Given the description of an element on the screen output the (x, y) to click on. 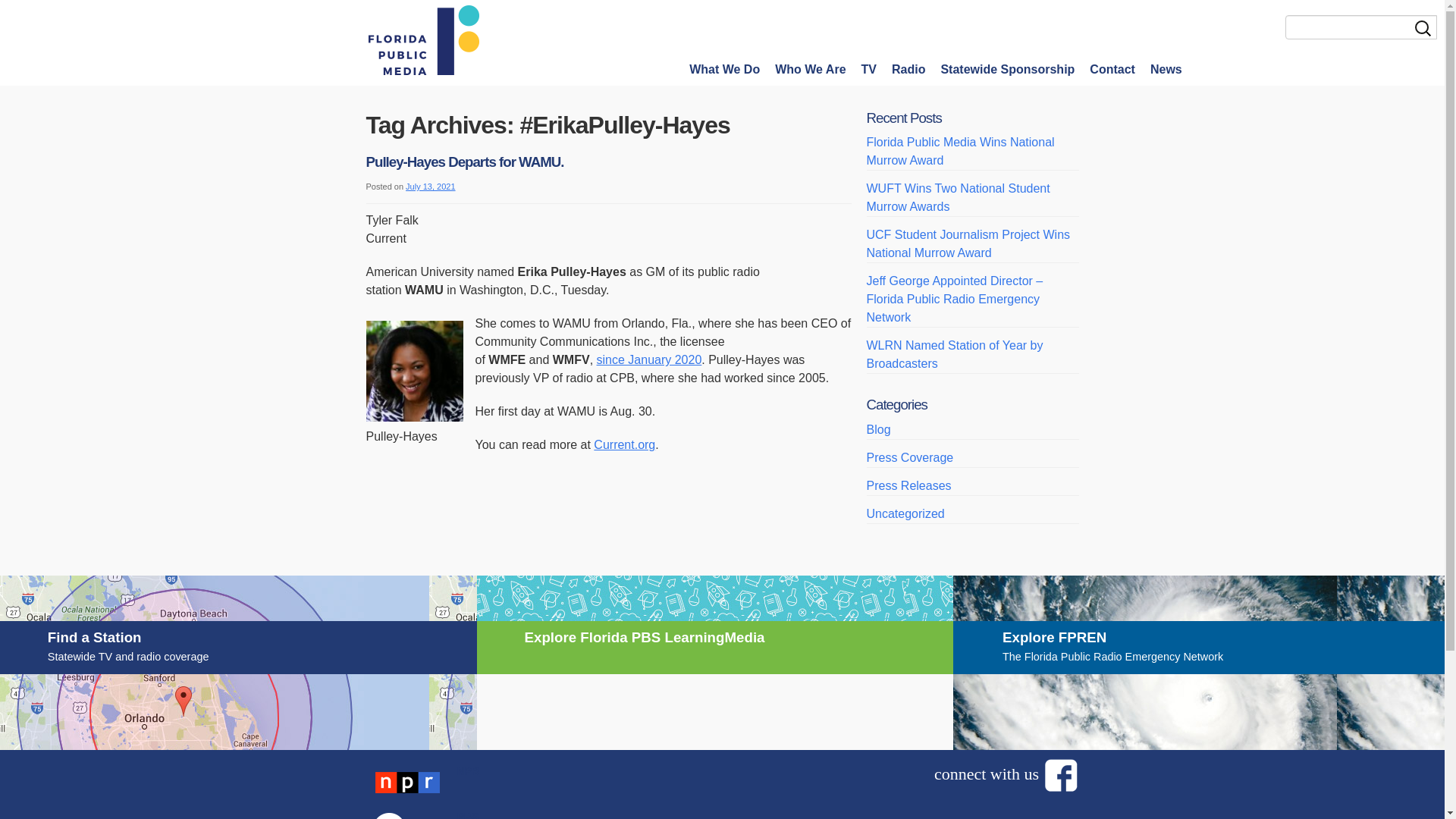
News (238, 658)
Press Coverage (1165, 69)
Contact (909, 457)
Pulley-Hayes Departs for WAMU. (1111, 69)
Search (464, 161)
Press Releases (31, 12)
PBS (908, 485)
UCF Student Journalism Project Wins National Murrow Award (539, 812)
Current.org (968, 243)
